Given the description of an element on the screen output the (x, y) to click on. 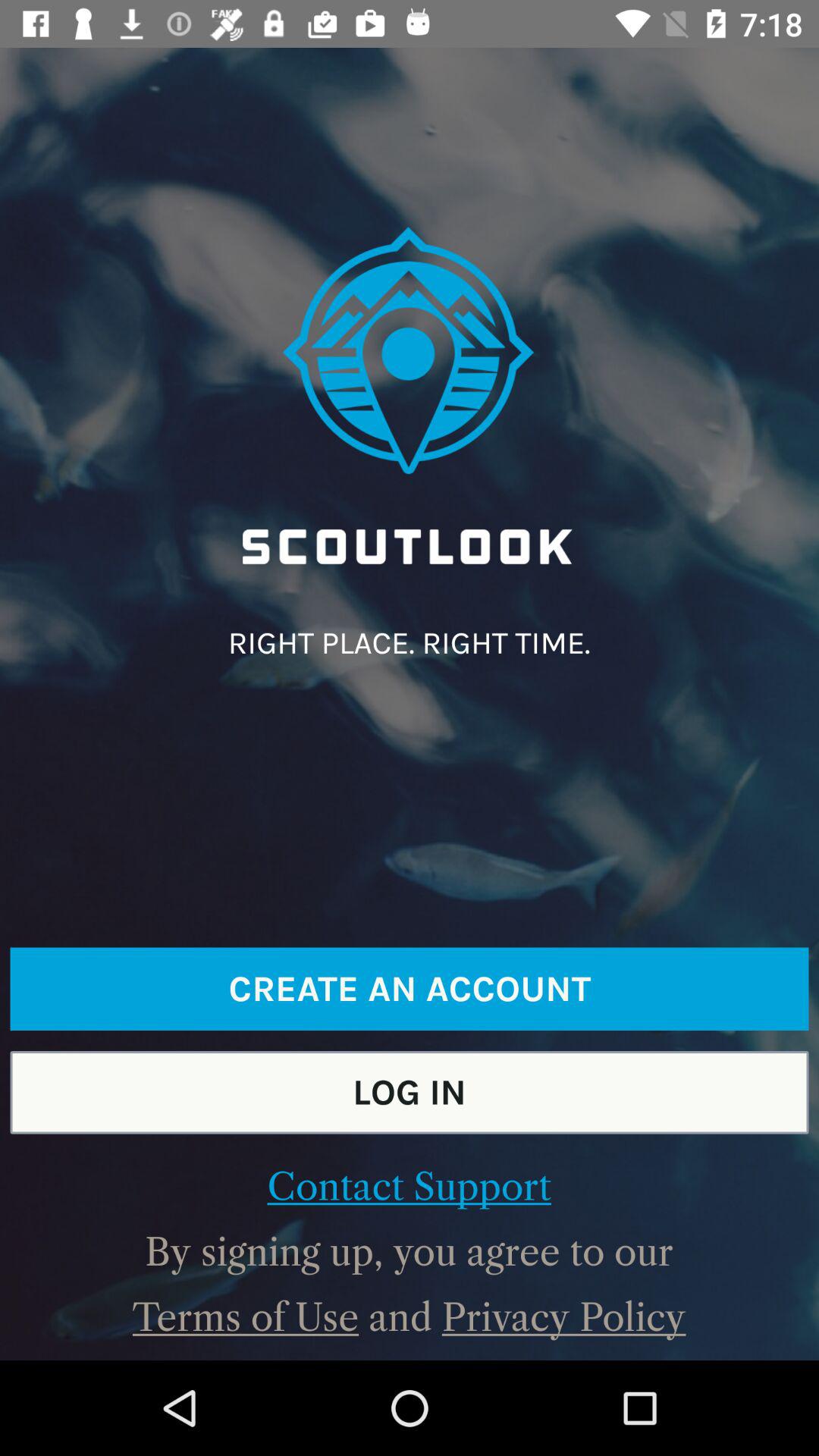
select the icon to the right of  and  item (563, 1317)
